Given the description of an element on the screen output the (x, y) to click on. 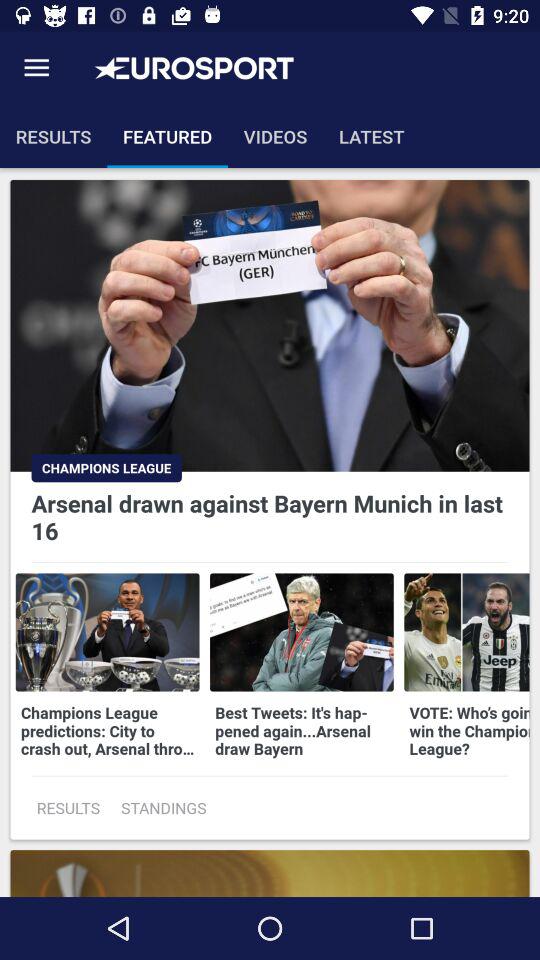
turn on icon above the results item (36, 68)
